Given the description of an element on the screen output the (x, y) to click on. 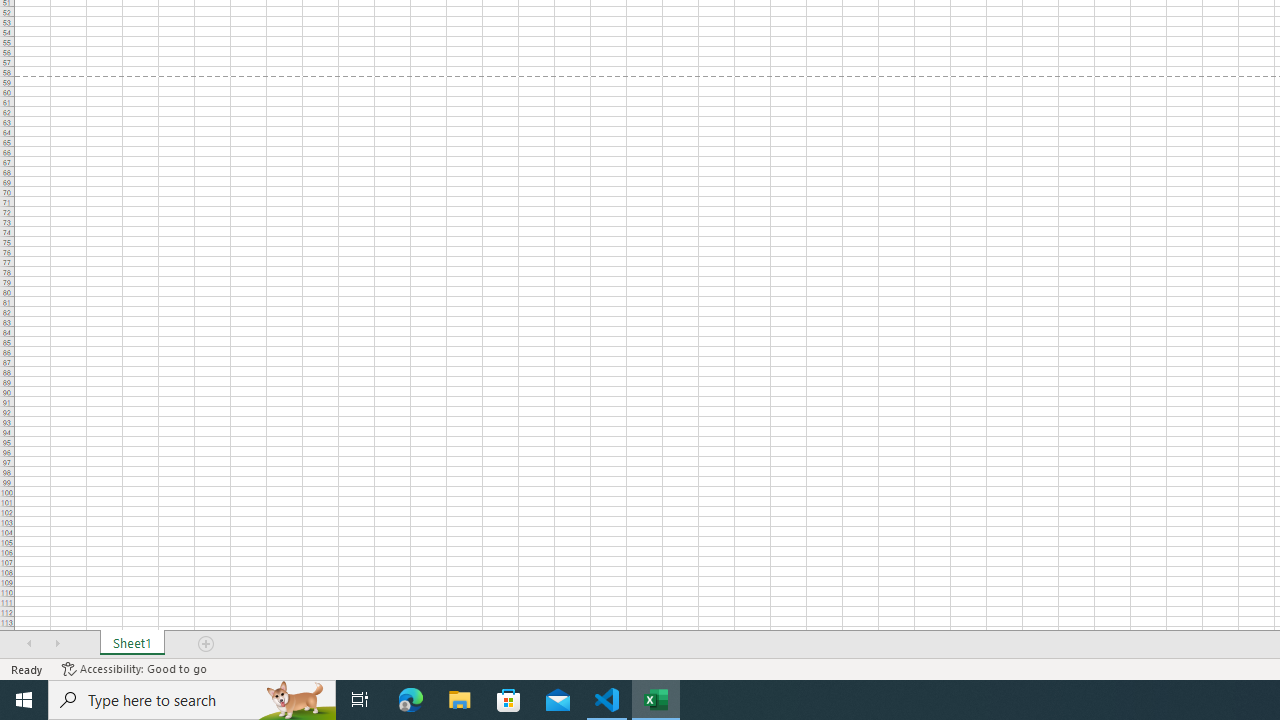
Accessibility Checker Accessibility: Good to go (134, 668)
Scroll Right (57, 644)
Scroll Left (29, 644)
Add Sheet (207, 644)
Sheet1 (132, 644)
